Given the description of an element on the screen output the (x, y) to click on. 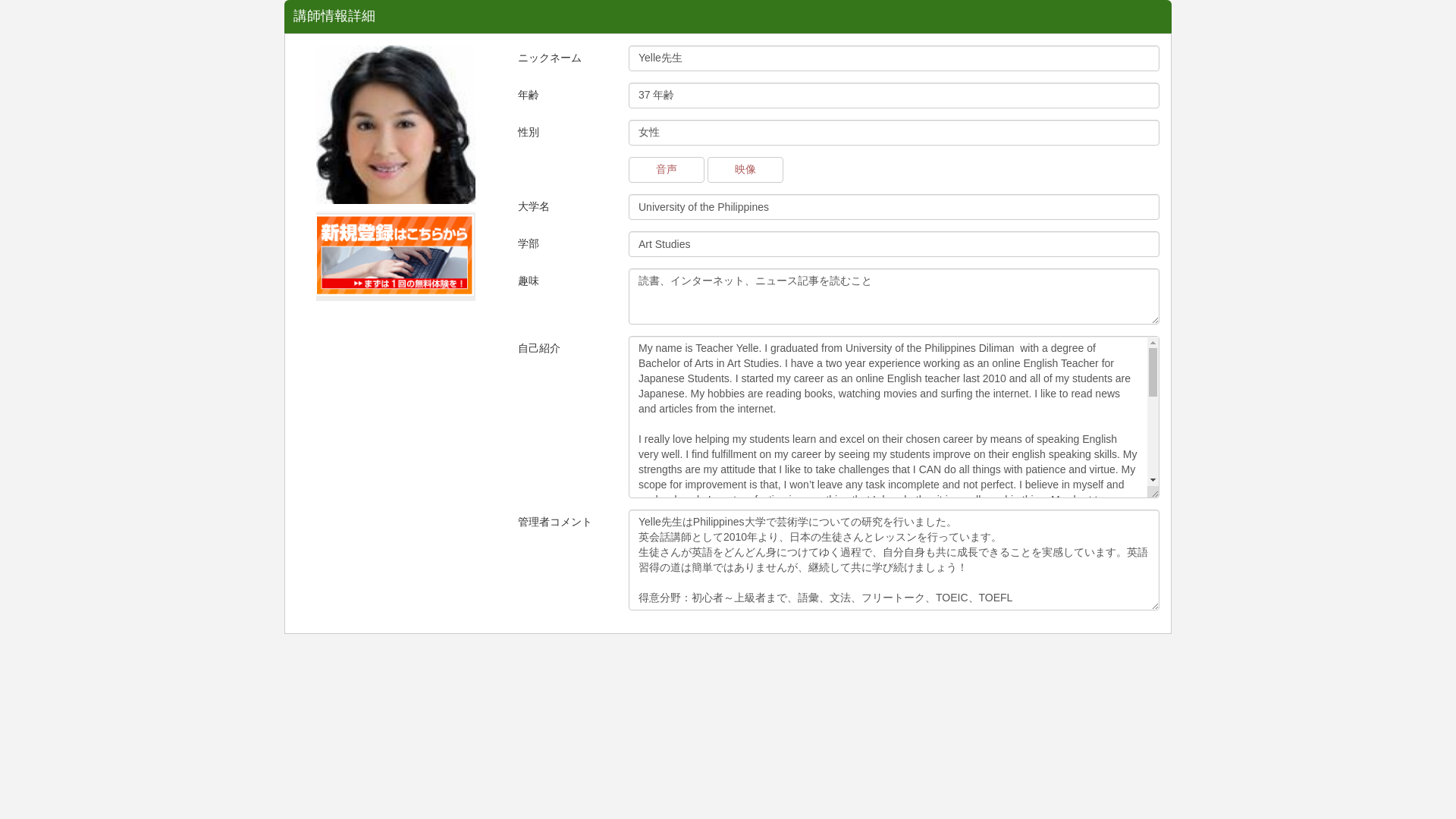
Art Studies (893, 243)
University of the Philippines (893, 207)
